Given the description of an element on the screen output the (x, y) to click on. 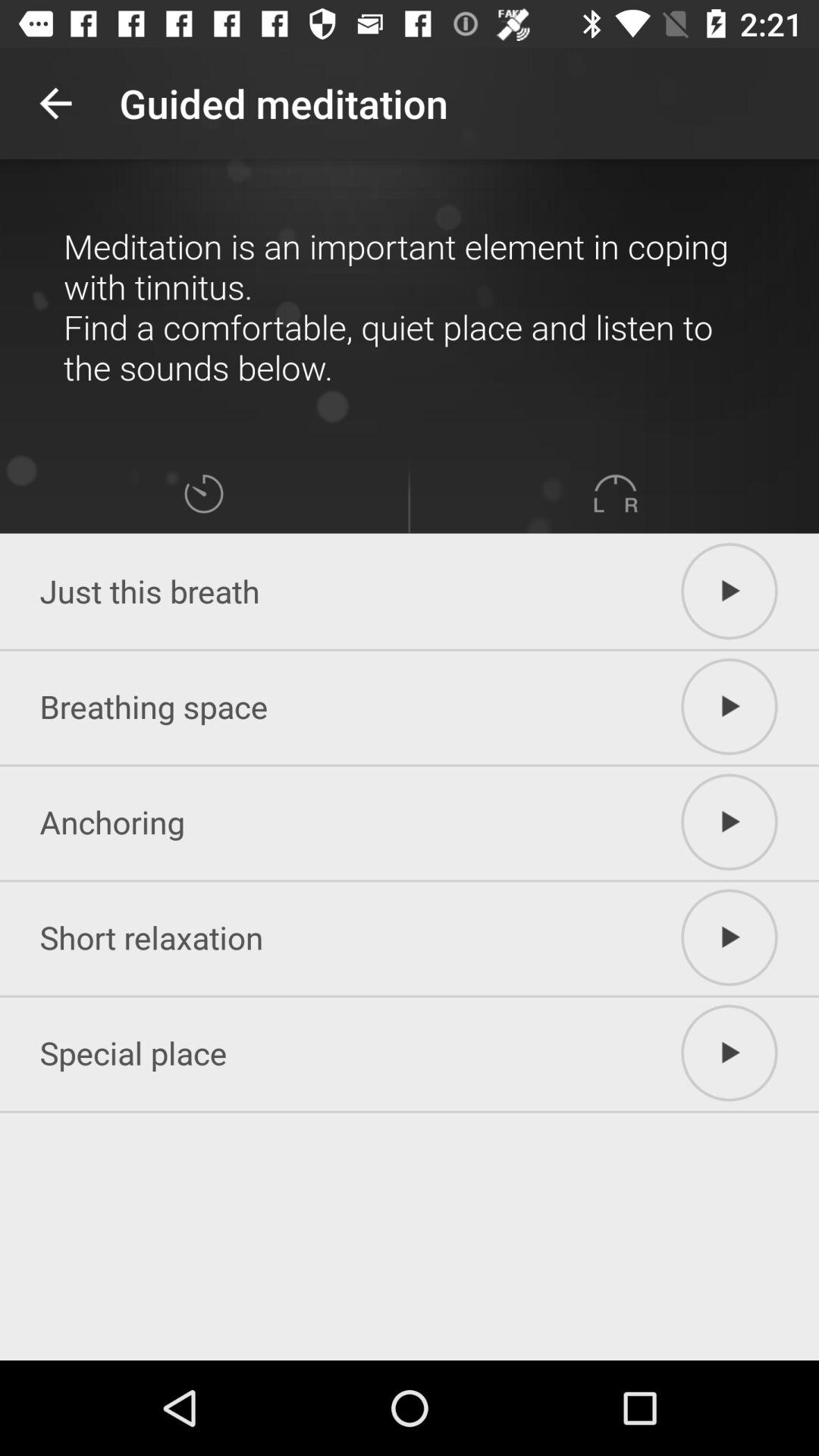
sort by time (203, 493)
